Given the description of an element on the screen output the (x, y) to click on. 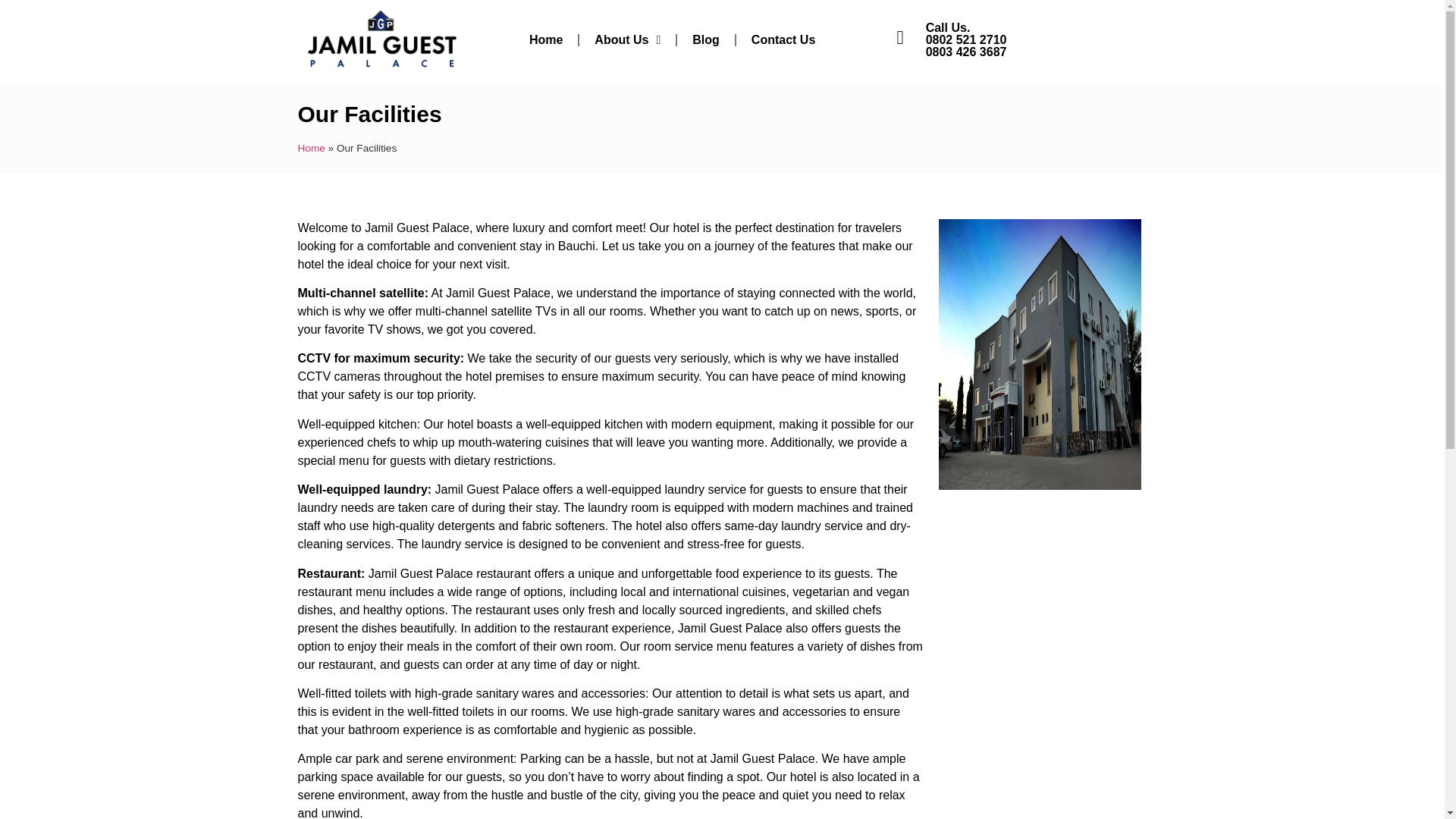
Blog (706, 39)
Contact Us (782, 39)
Home (310, 147)
About Us (627, 39)
Home (545, 39)
